Given the description of an element on the screen output the (x, y) to click on. 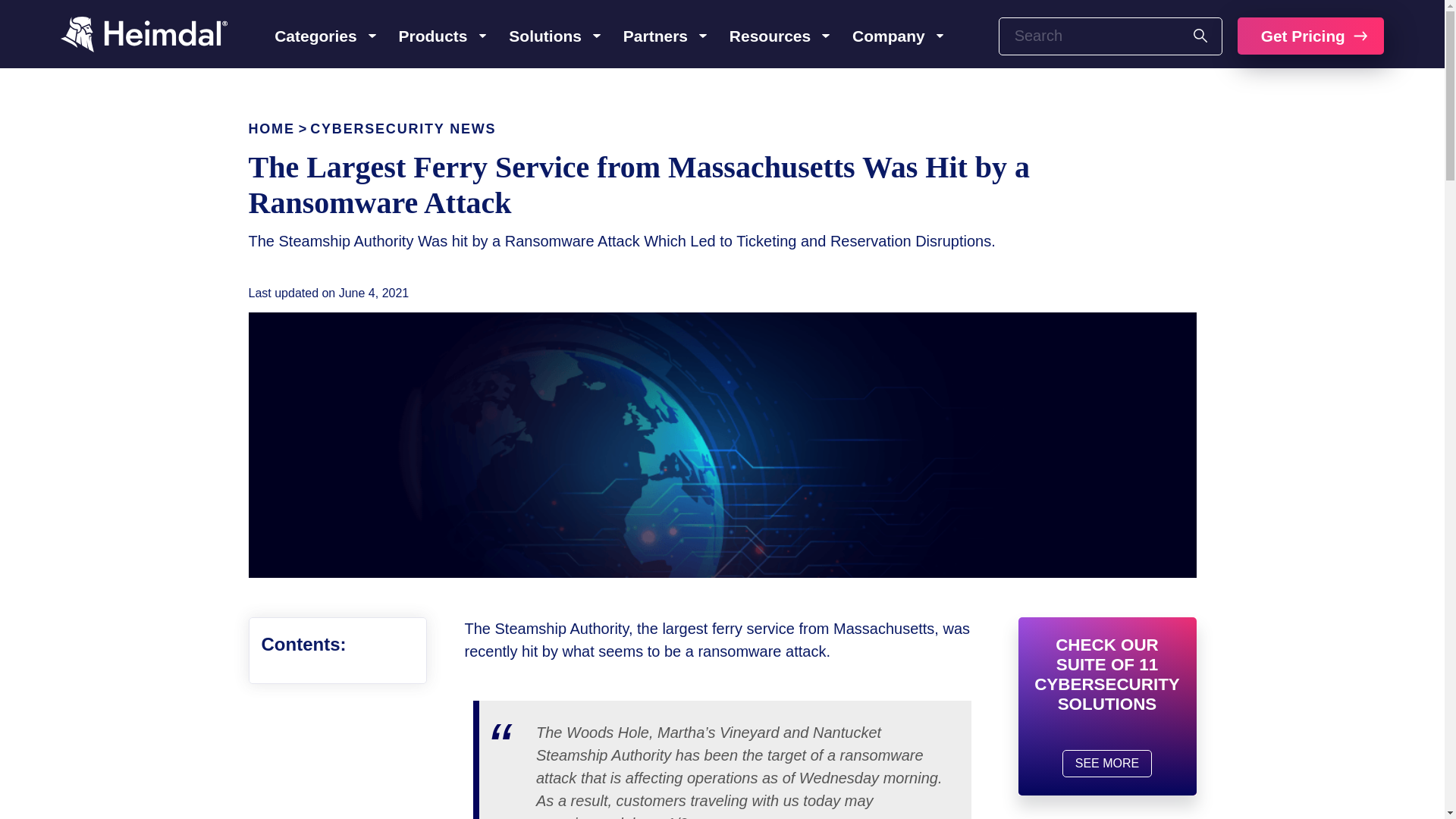
Get Pricing (1310, 35)
